Given the description of an element on the screen output the (x, y) to click on. 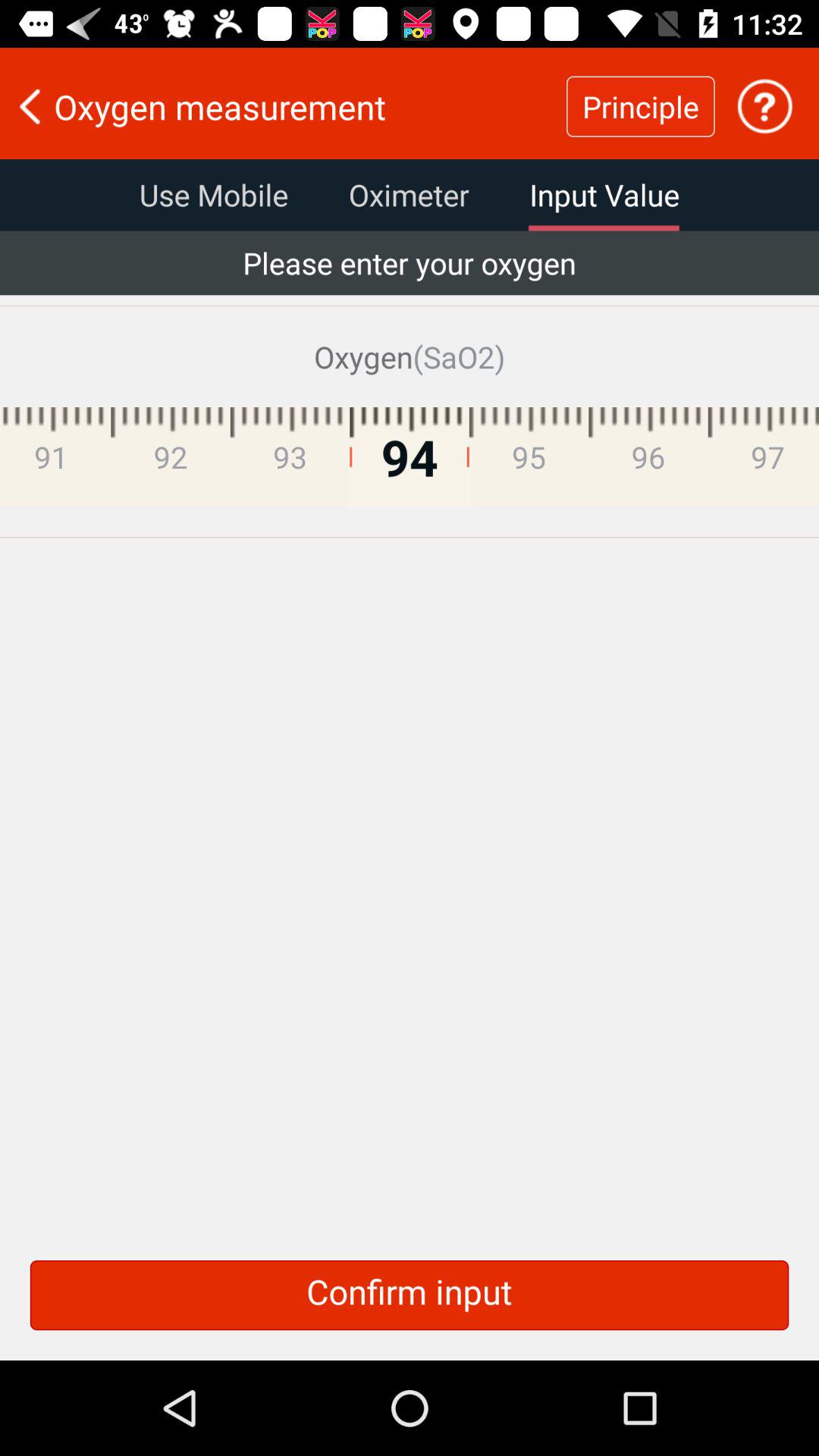
tap oximeter item (408, 194)
